Given the description of an element on the screen output the (x, y) to click on. 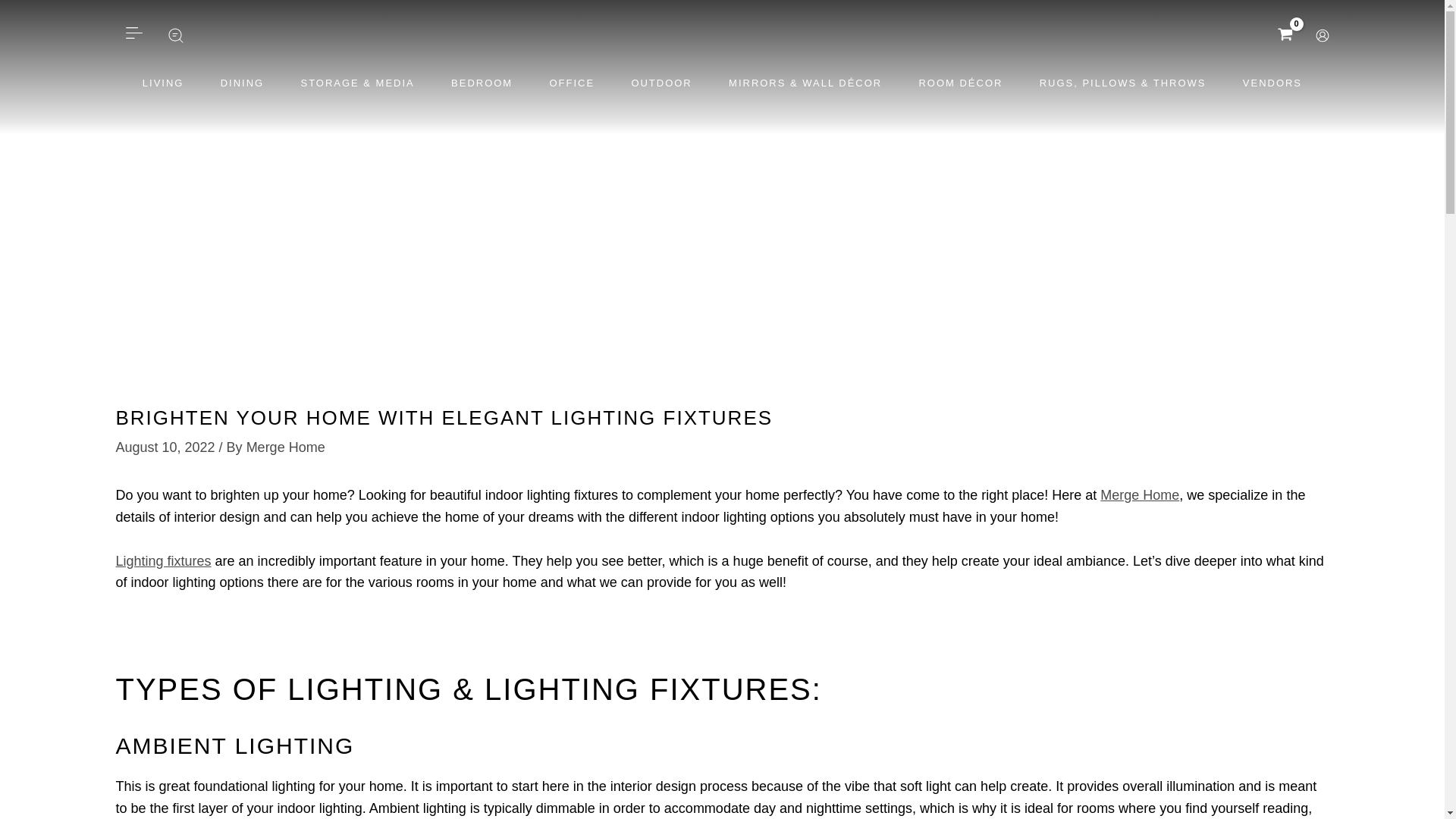
BEDROOM (481, 83)
Search (175, 35)
View all posts by Merge Home (285, 447)
DINING (242, 83)
LIVING (162, 83)
